Given the description of an element on the screen output the (x, y) to click on. 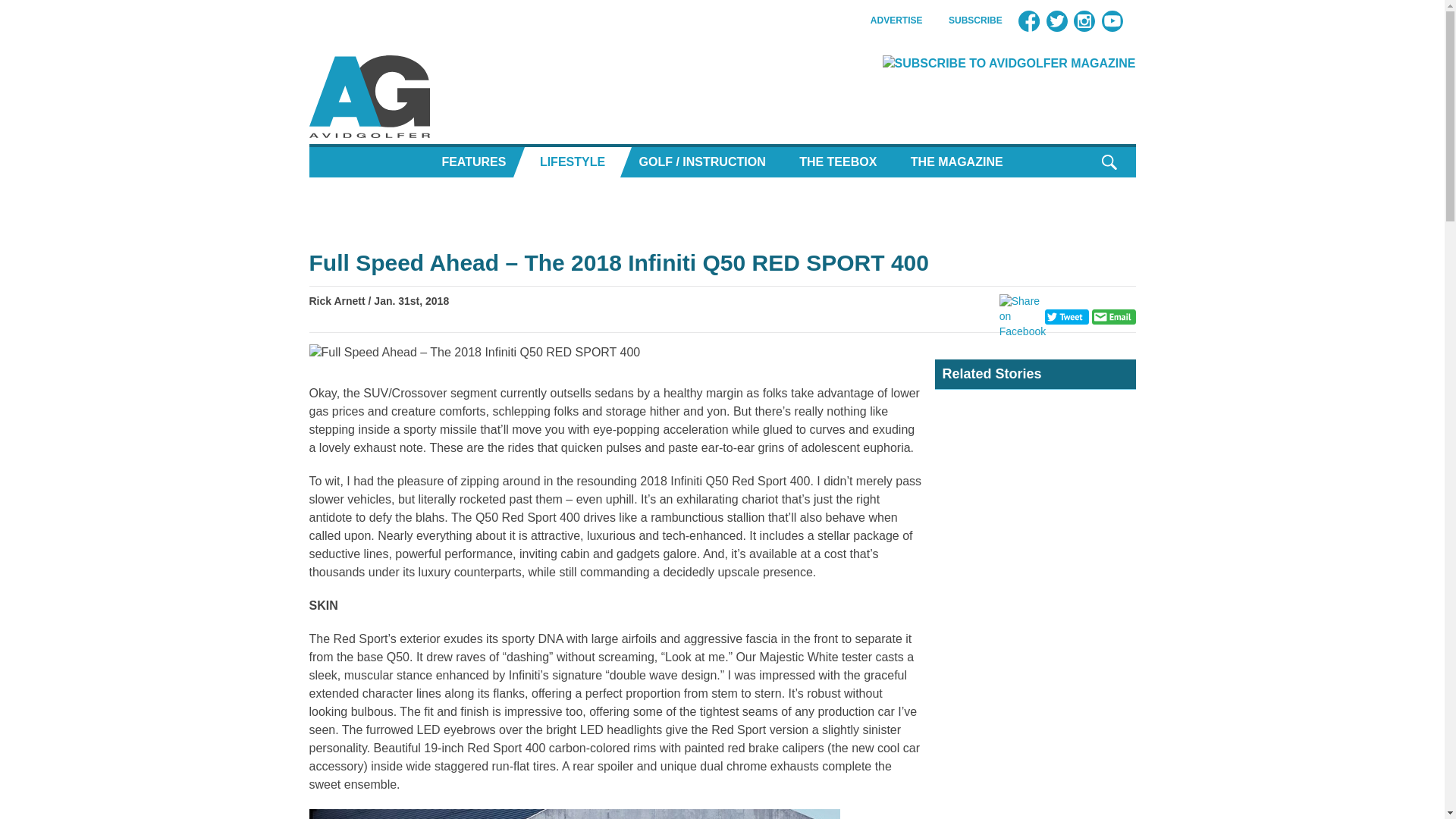
Lifestyle (572, 162)
The Magazine (956, 162)
Advertise (896, 20)
ADVERTISE (896, 20)
Facebook (1028, 21)
YouTube (1111, 21)
Twitter (1056, 21)
SUBSCRIBE (975, 20)
The TeeBox (837, 162)
THE MAGAZINE (956, 162)
LIFESTYLE (572, 162)
Share on Twitter (1067, 316)
FEATURES (473, 162)
THE TEEBOX (837, 162)
Features (473, 162)
